Given the description of an element on the screen output the (x, y) to click on. 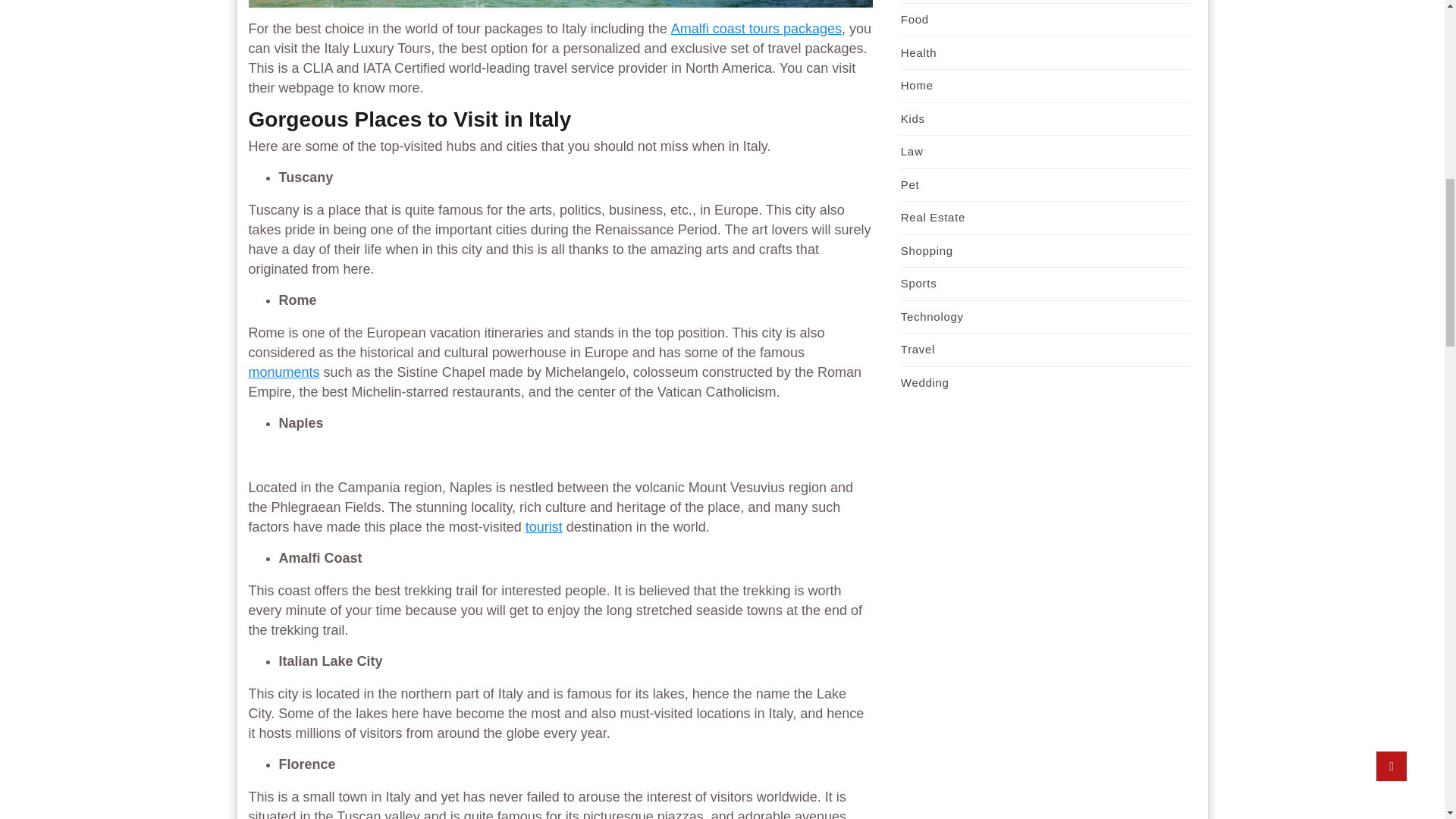
monuments (284, 372)
tourist (543, 526)
Amalfi coast tours packages (756, 28)
